Given the description of an element on the screen output the (x, y) to click on. 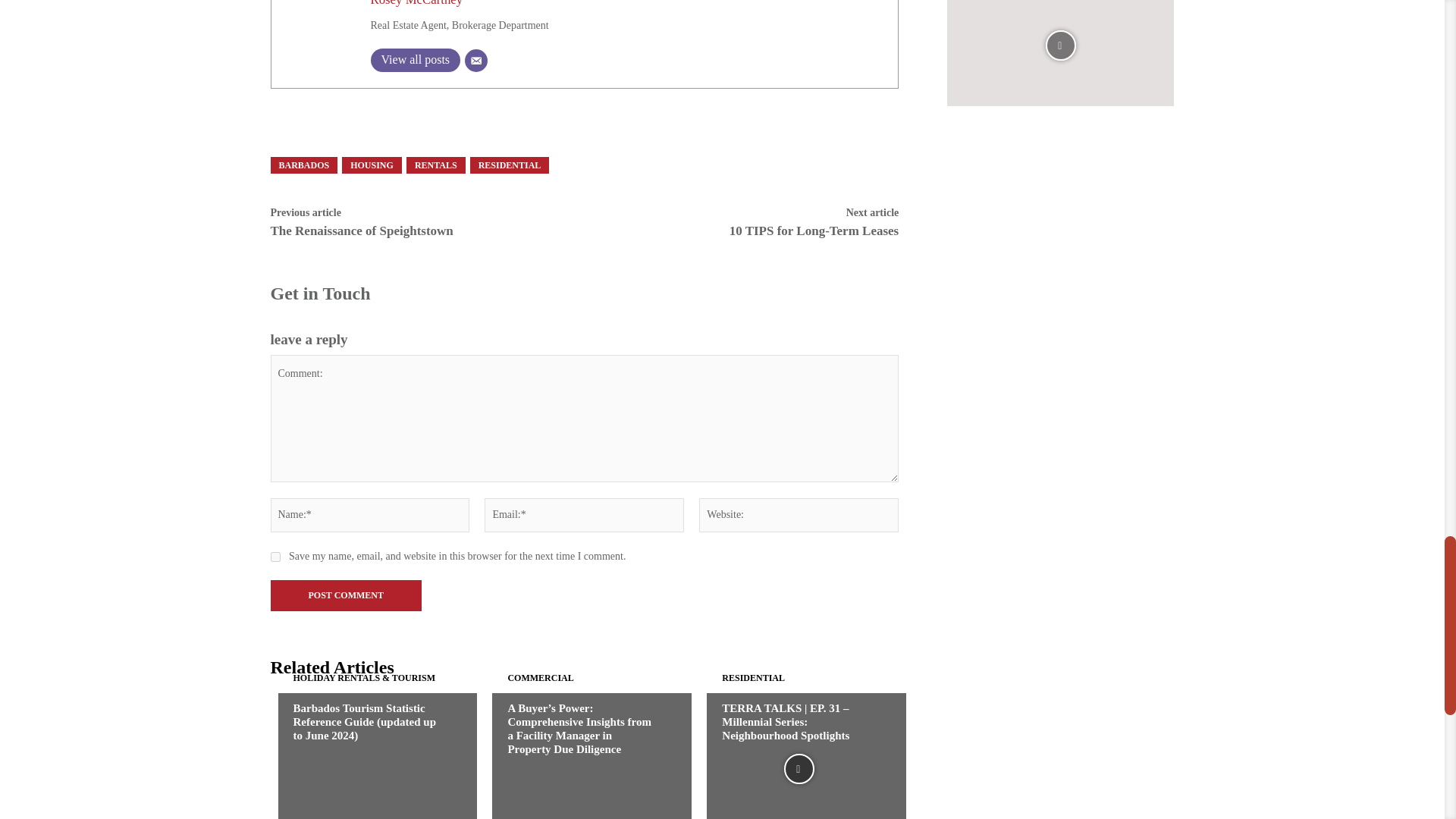
Rosey McCartney (416, 3)
yes (274, 556)
Post Comment (344, 595)
